Given the description of an element on the screen output the (x, y) to click on. 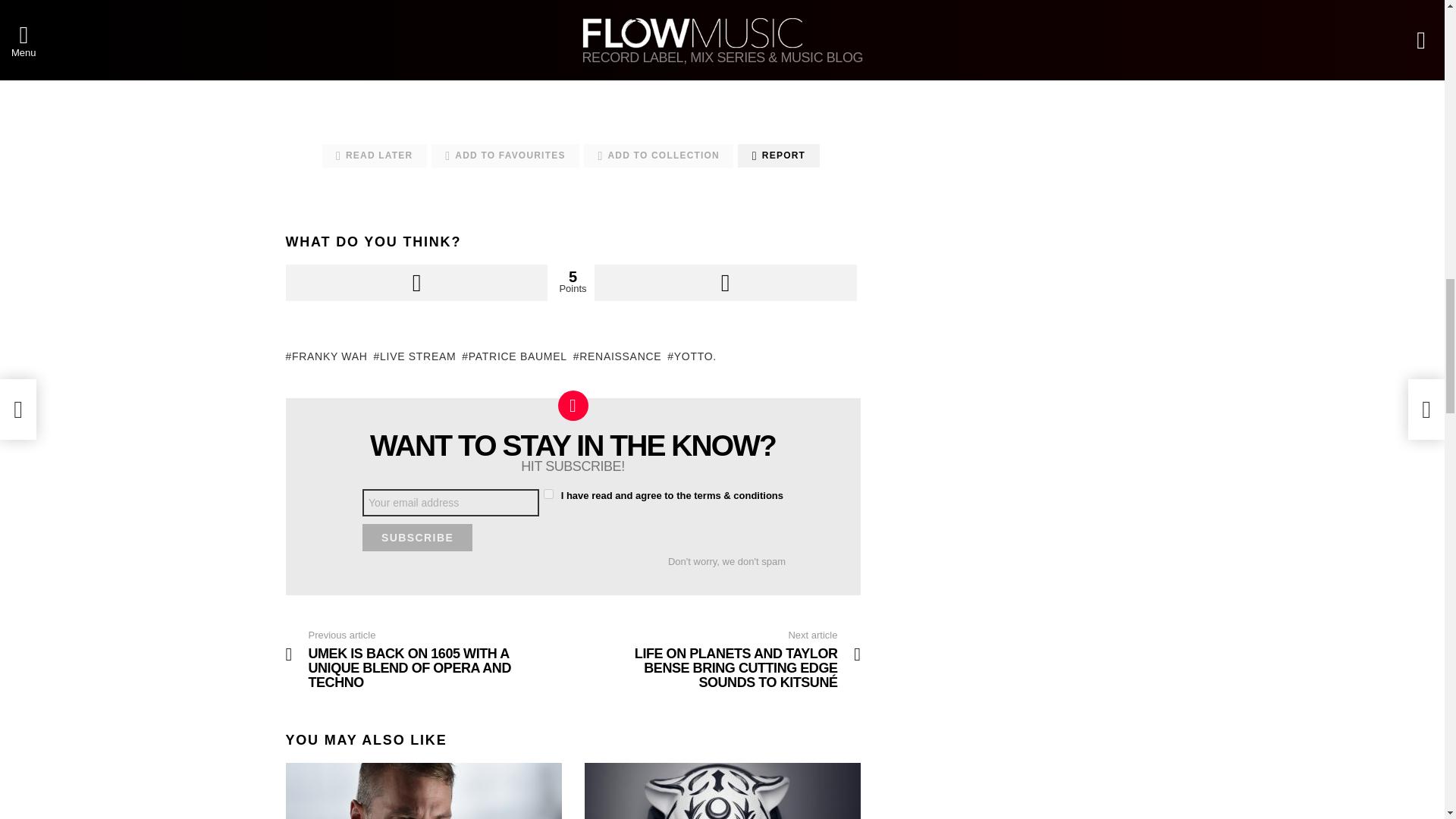
SUBSCRIBE (416, 537)
1 (548, 493)
Upvote (416, 282)
